Given the description of an element on the screen output the (x, y) to click on. 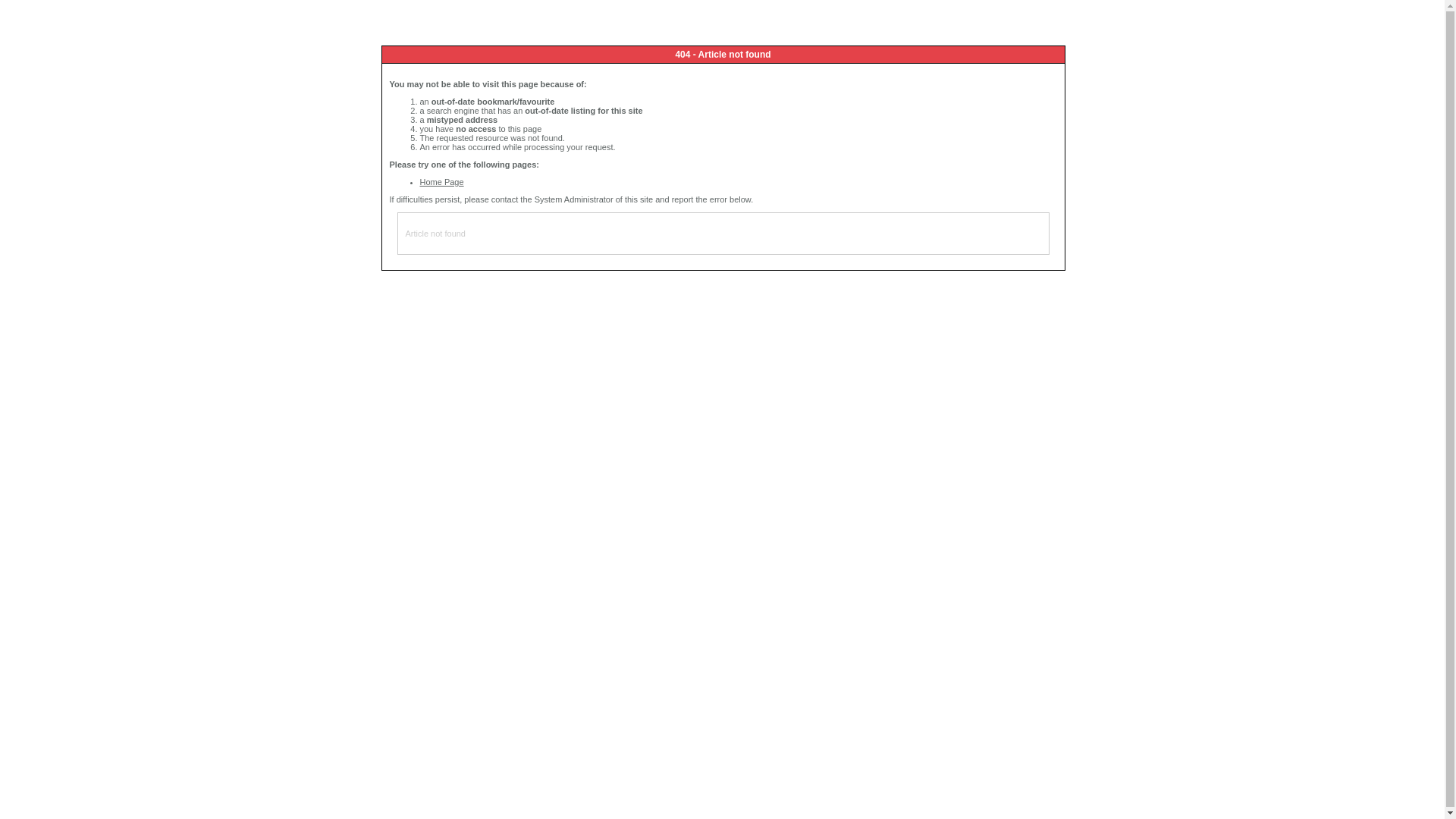
Home Page Element type: text (442, 181)
